Given the description of an element on the screen output the (x, y) to click on. 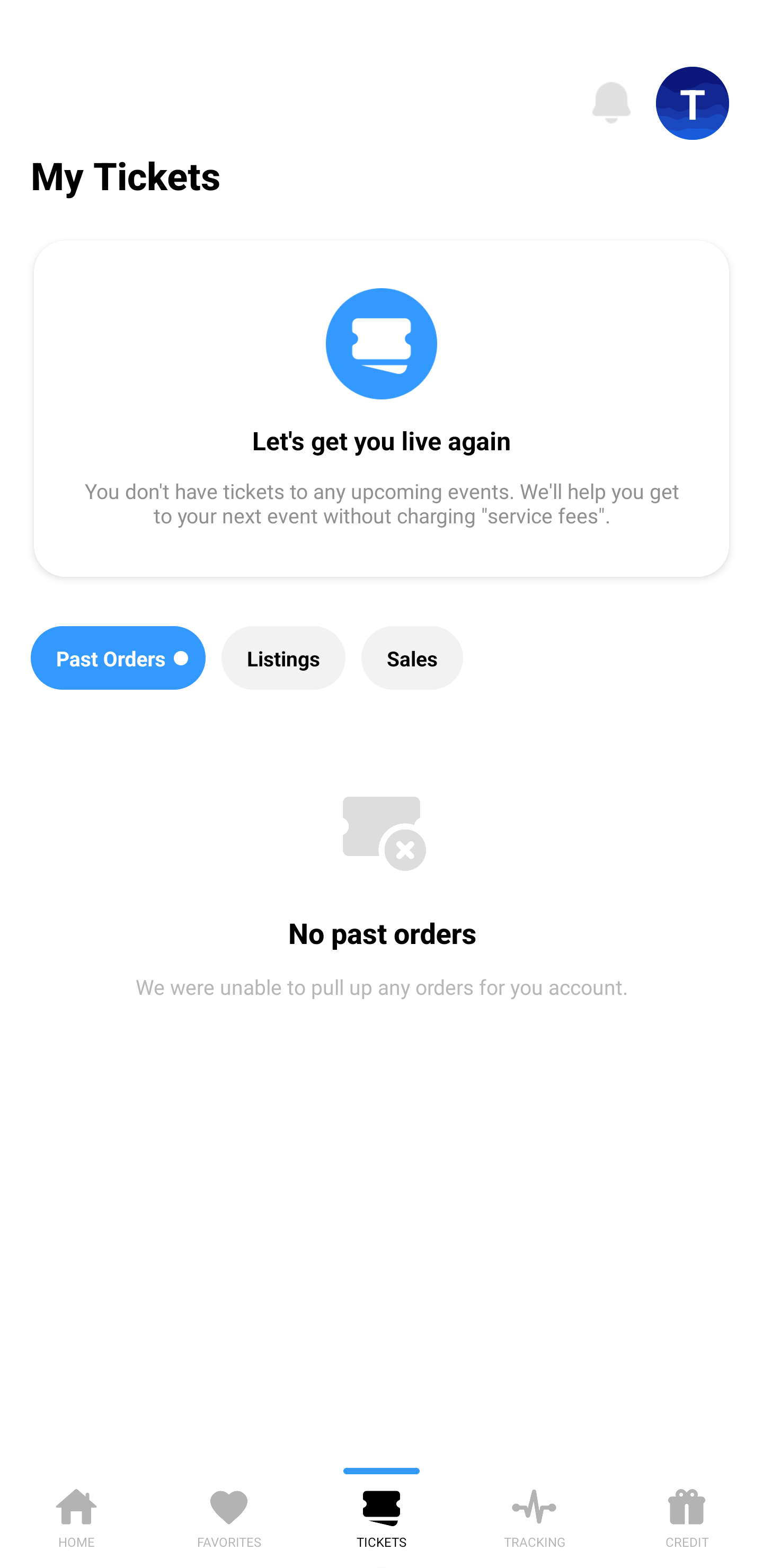
T (692, 103)
Past Orders (117, 657)
Listings (283, 657)
Sales (412, 657)
HOME (76, 1515)
FAVORITES (228, 1515)
TICKETS (381, 1515)
TRACKING (533, 1515)
CREDIT (686, 1515)
